Given the description of an element on the screen output the (x, y) to click on. 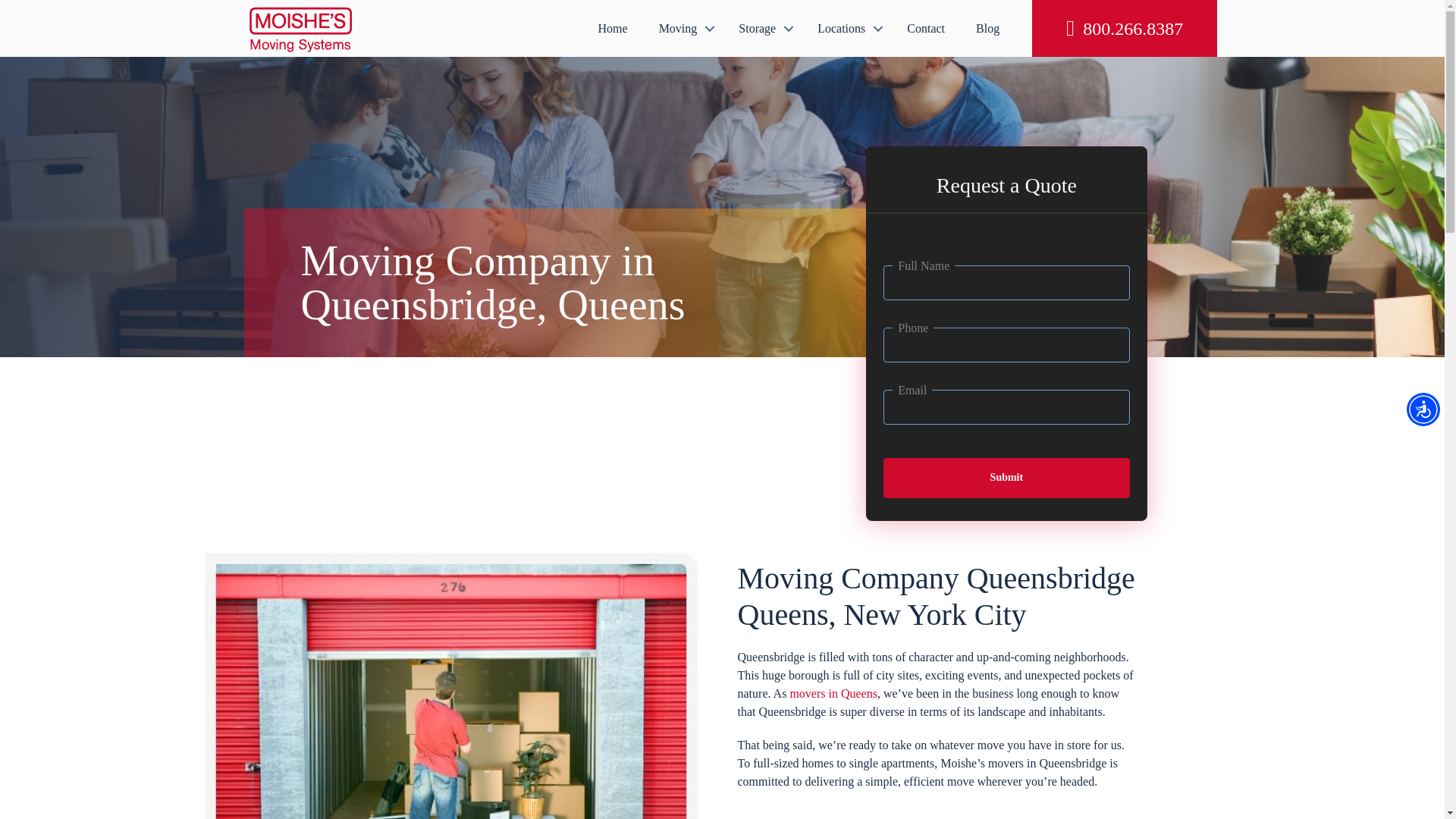
logo (301, 28)
Submit (1006, 477)
Accessibility Menu (1422, 409)
Locations (846, 28)
Moving (683, 28)
movers in Queens (833, 693)
Home (613, 28)
171664262 (451, 685)
800.266.8387 (1124, 28)
Blog (987, 28)
Submit (1006, 477)
Storage (762, 28)
Contact (925, 28)
